Given the description of an element on the screen output the (x, y) to click on. 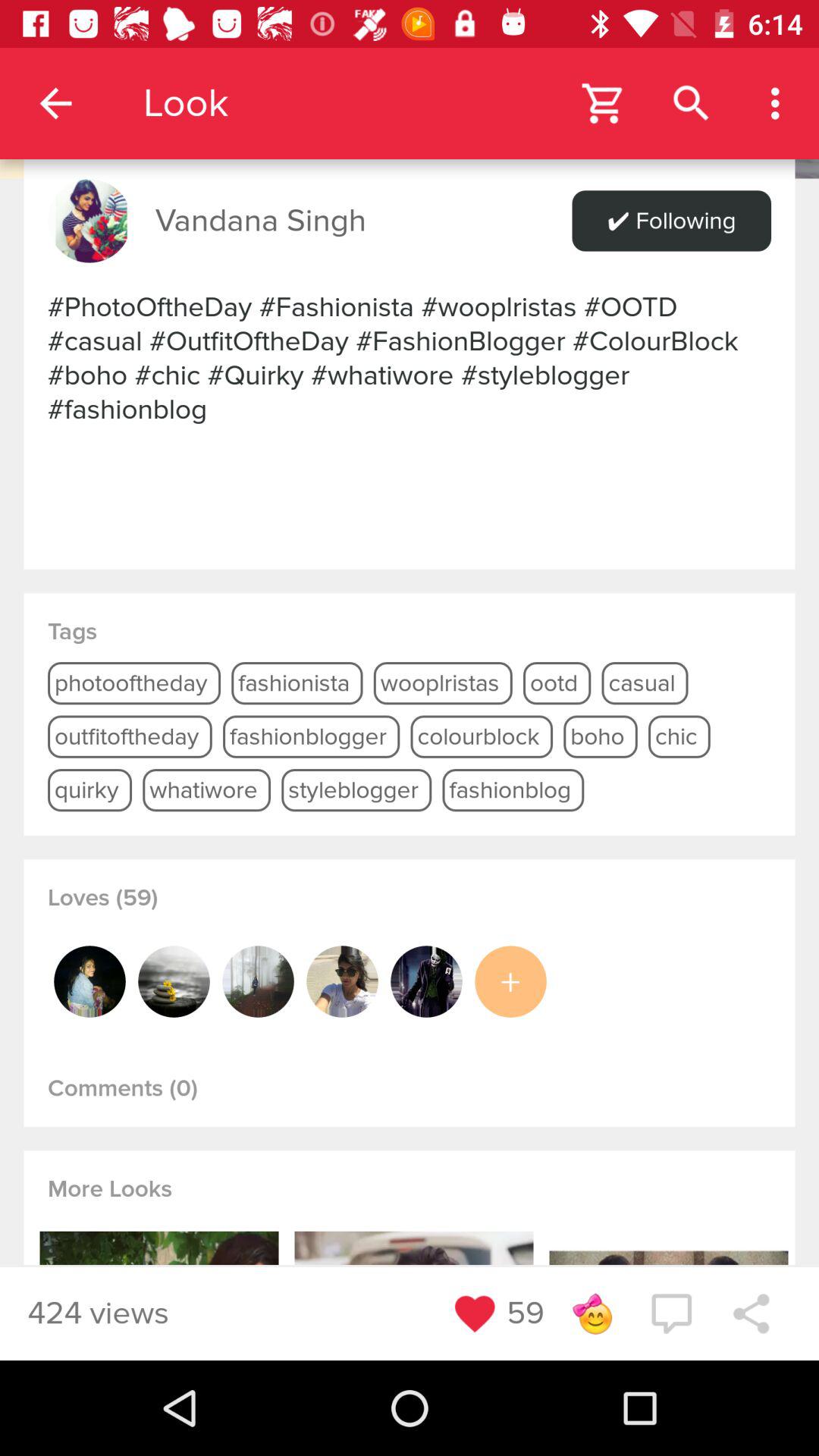
look at user profile (89, 981)
